Given the description of an element on the screen output the (x, y) to click on. 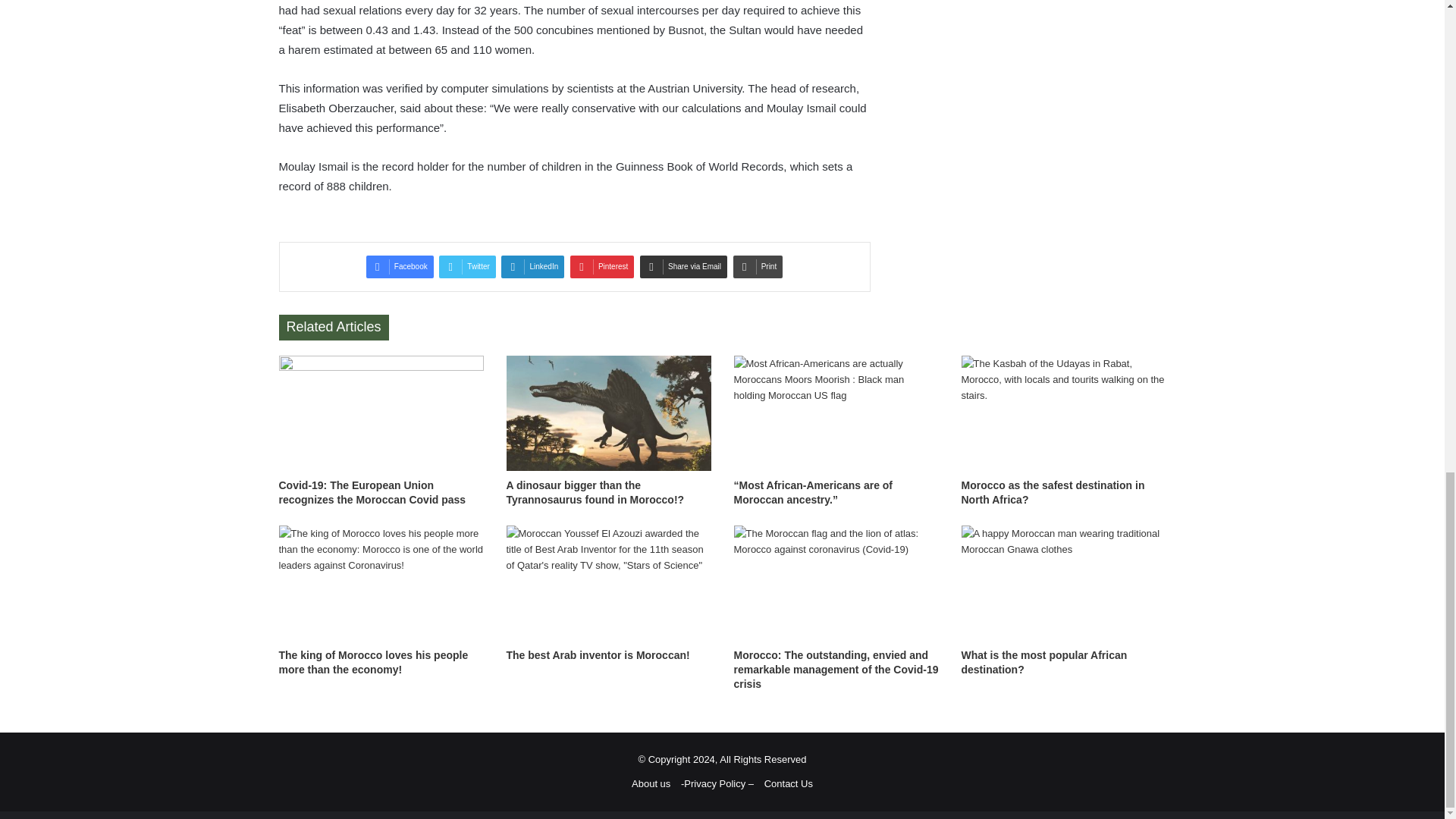
Pinterest (601, 266)
Share via Email (683, 266)
Facebook (399, 266)
LinkedIn (532, 266)
Print (758, 266)
Twitter (467, 266)
Facebook (399, 266)
Twitter (467, 266)
